Given the description of an element on the screen output the (x, y) to click on. 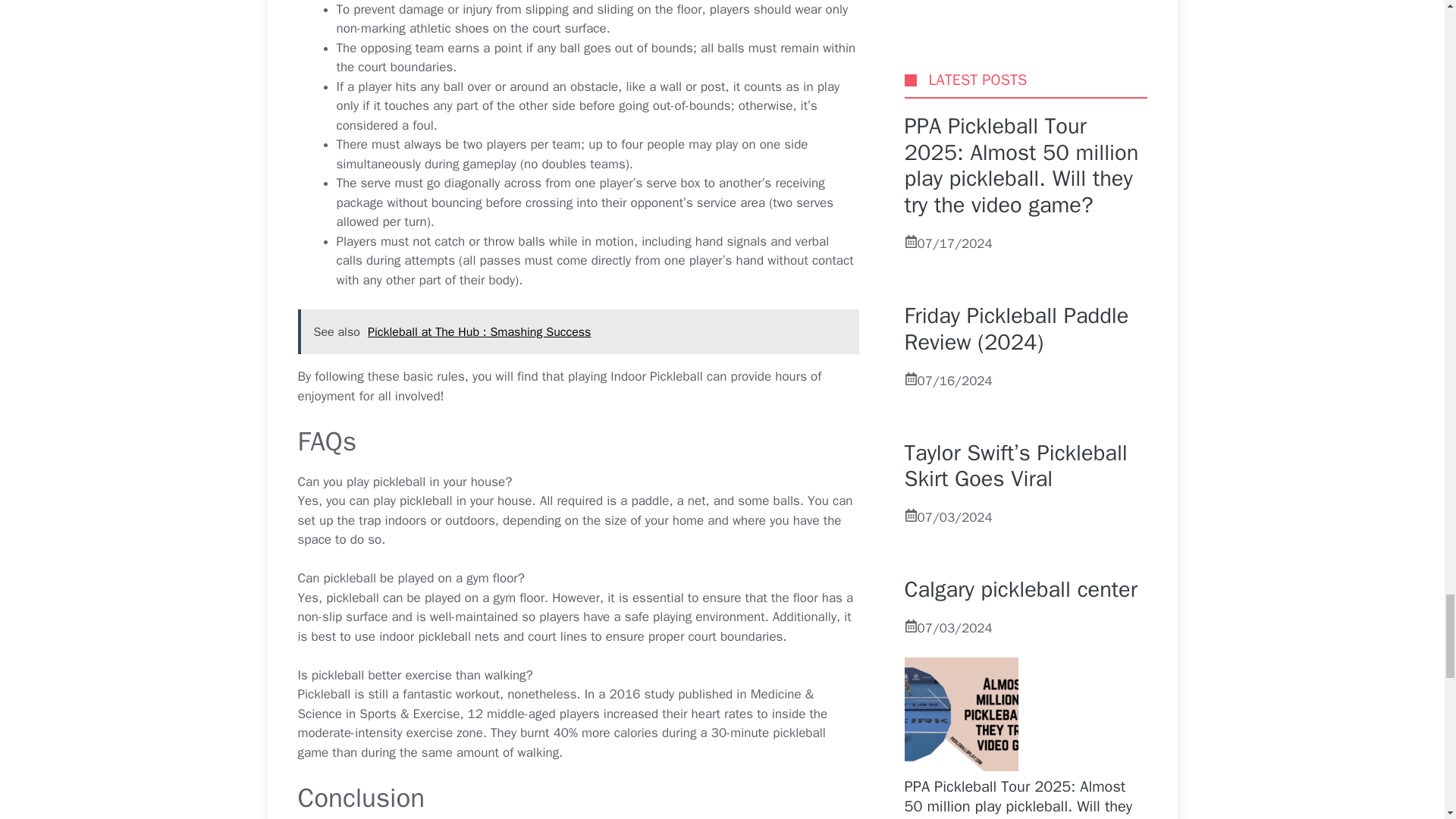
See also  Pickleball at The Hub : Smashing Success (578, 331)
